Given the description of an element on the screen output the (x, y) to click on. 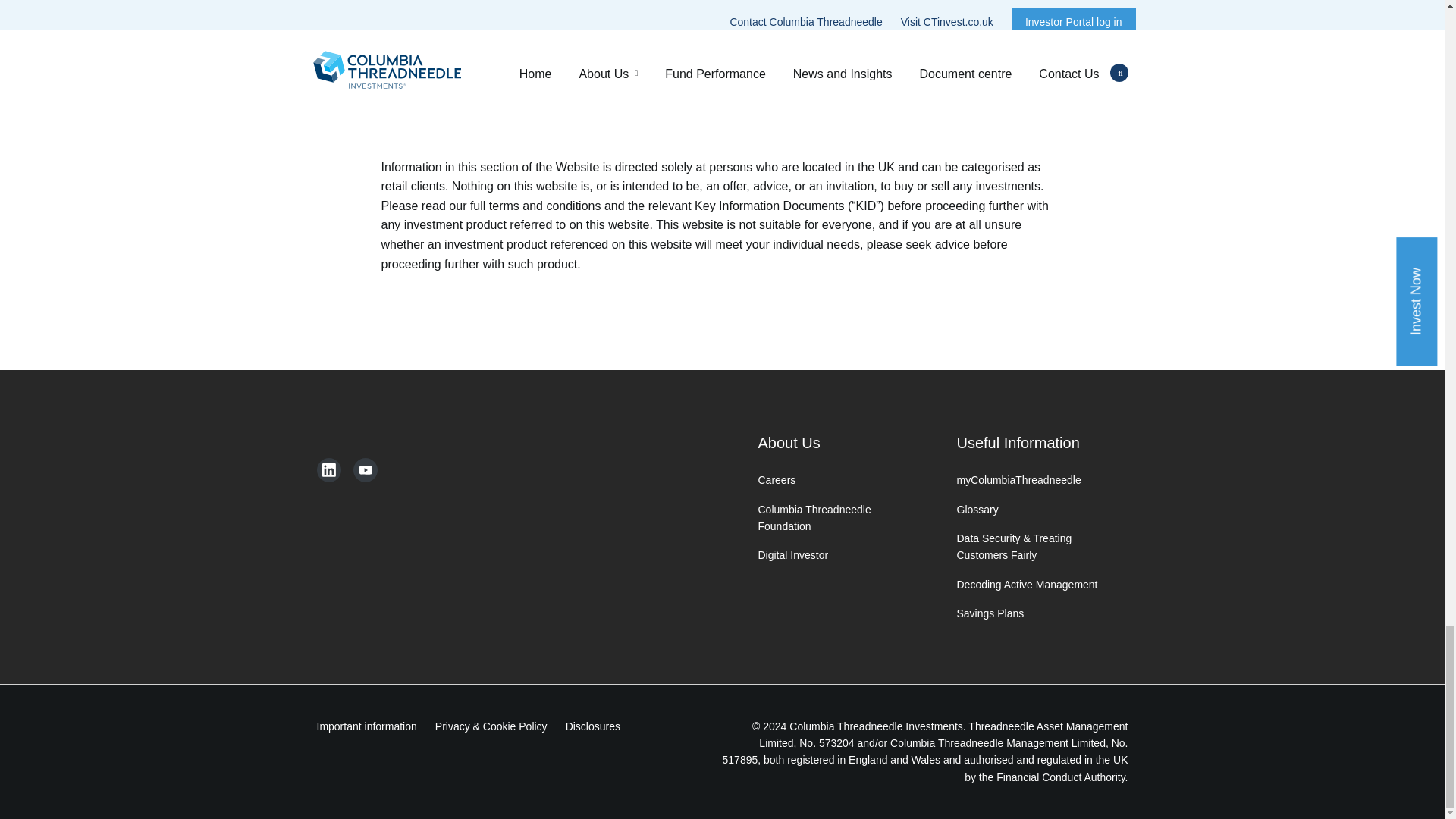
Digital Investor (834, 555)
Useful Information (1032, 442)
Careers (834, 479)
Columbia Threadneedle Foundation (834, 518)
myColumbiaThreadneedle (1032, 479)
Get started (952, 27)
Get started (661, 27)
About Us (834, 442)
Get started (371, 27)
